Given the description of an element on the screen output the (x, y) to click on. 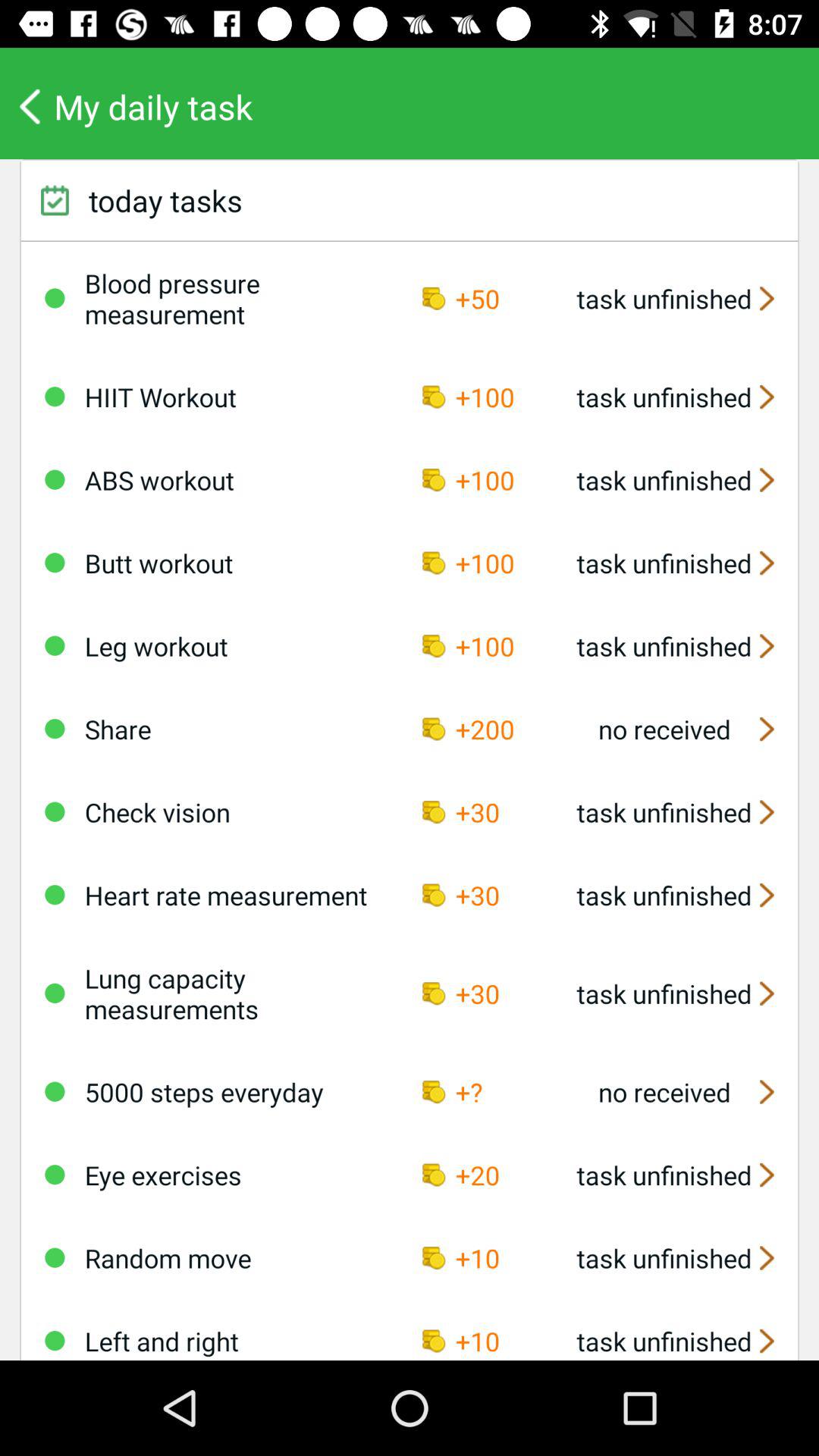
open the page (54, 1091)
